Given the description of an element on the screen output the (x, y) to click on. 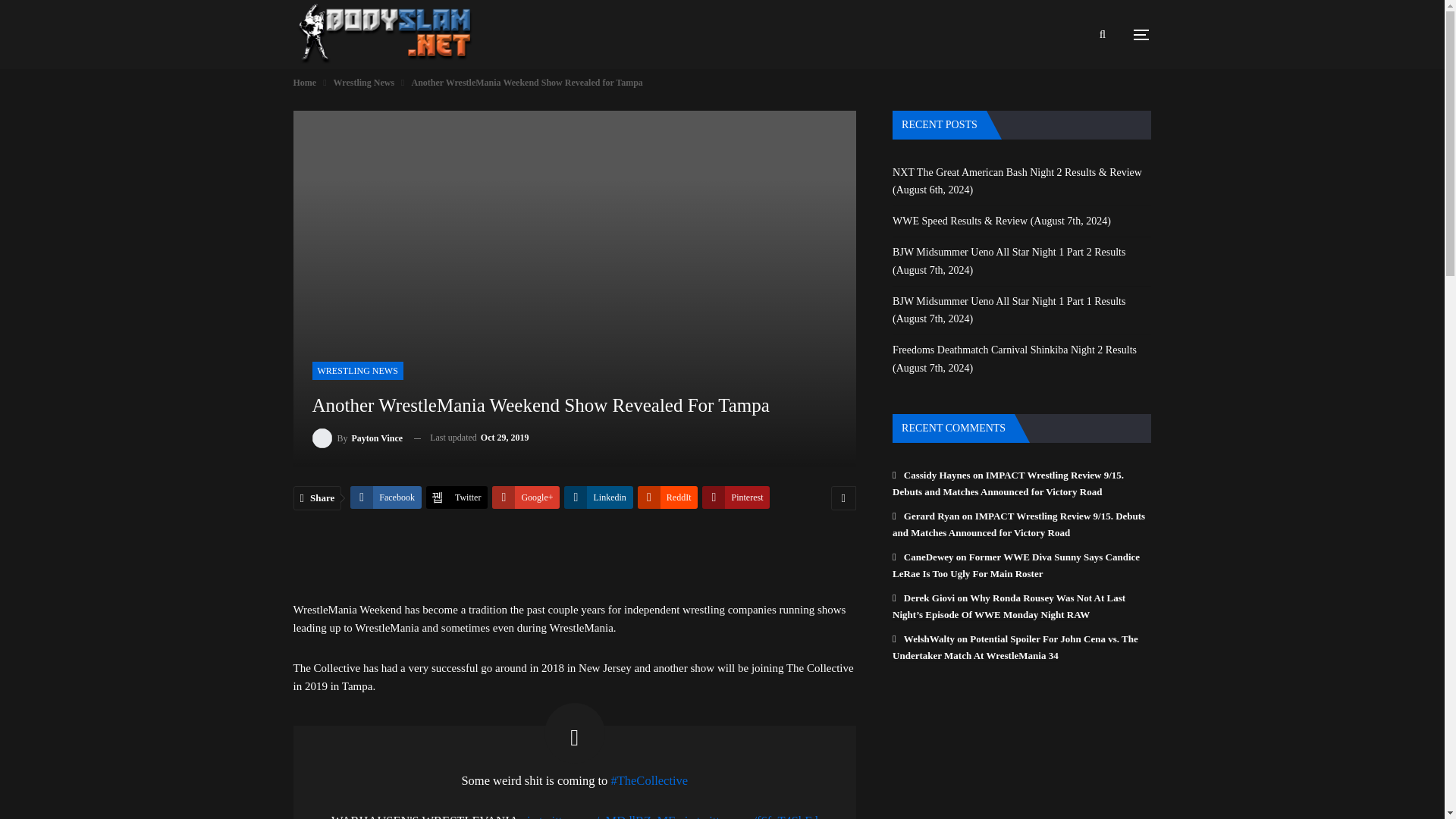
Browse Author Articles (358, 437)
Twitter (456, 497)
Home (303, 82)
Facebook (386, 497)
Pinterest (735, 497)
ReddIt (667, 497)
By Payton Vince (358, 437)
Wrestling News (363, 82)
WRESTLING NEWS (358, 370)
